Given the description of an element on the screen output the (x, y) to click on. 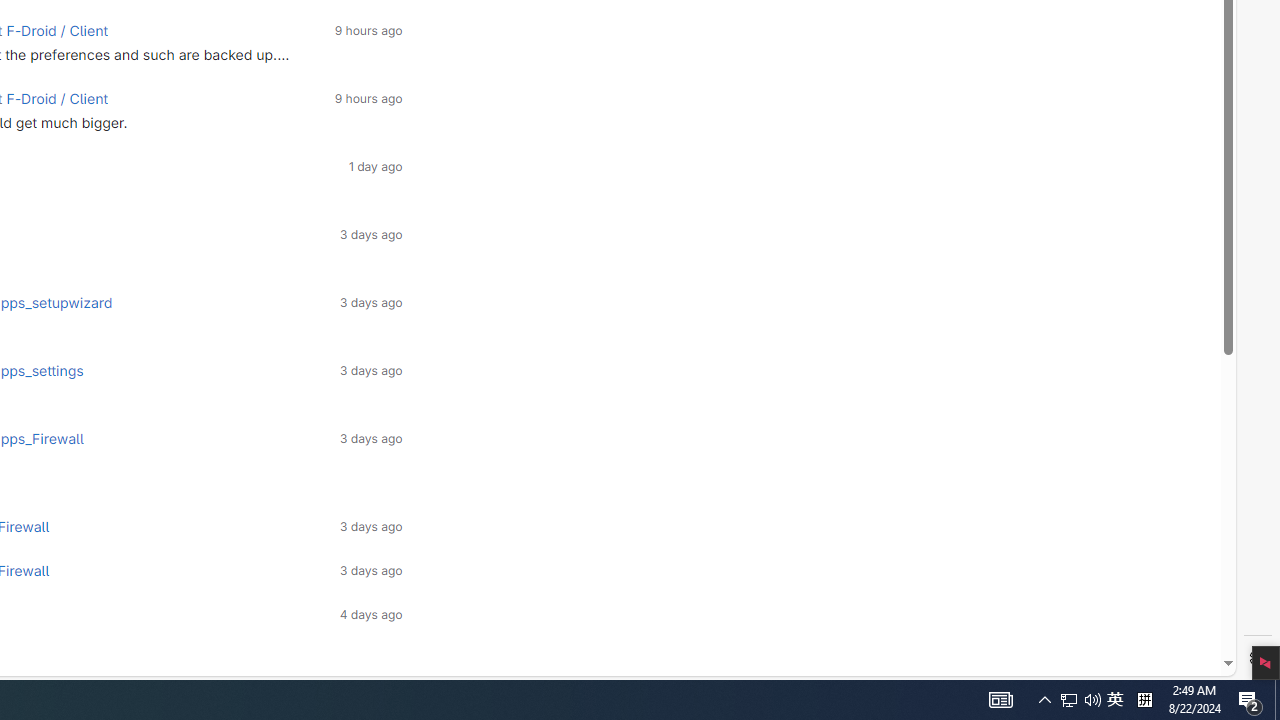
F-Droid / Client (57, 98)
